Given the description of an element on the screen output the (x, y) to click on. 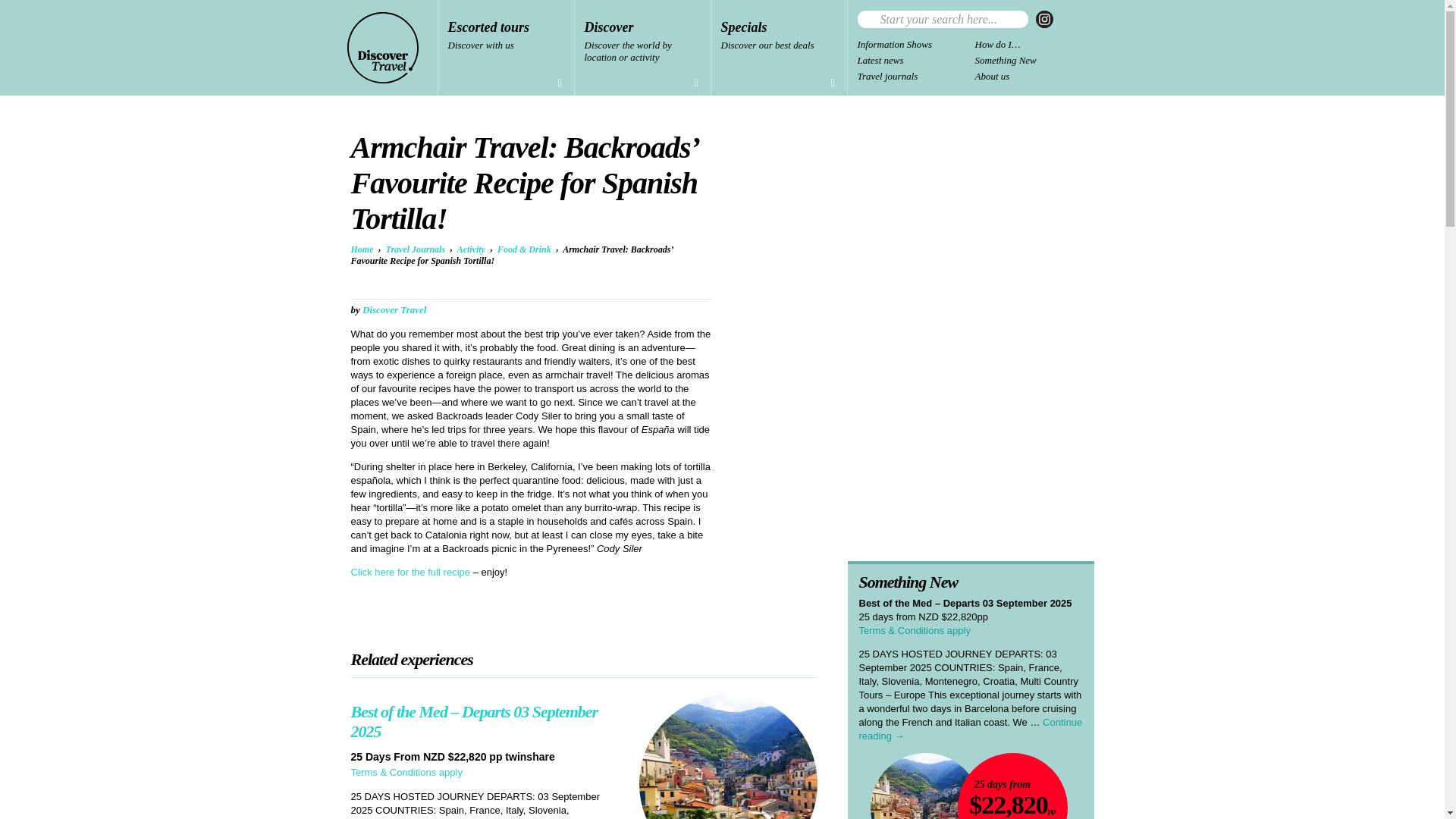
Go to Discover Travel Christchurch. (361, 249)
About us (779, 47)
Follow us on instagram (1034, 78)
Something New (1043, 18)
Start your search here... (505, 47)
Discover Travel (1034, 62)
Information Shows (942, 18)
Go to the Activity Activity archives. (383, 47)
Latest news (915, 46)
Go to Travel Journals. (642, 47)
Travel journals (470, 249)
